Given the description of an element on the screen output the (x, y) to click on. 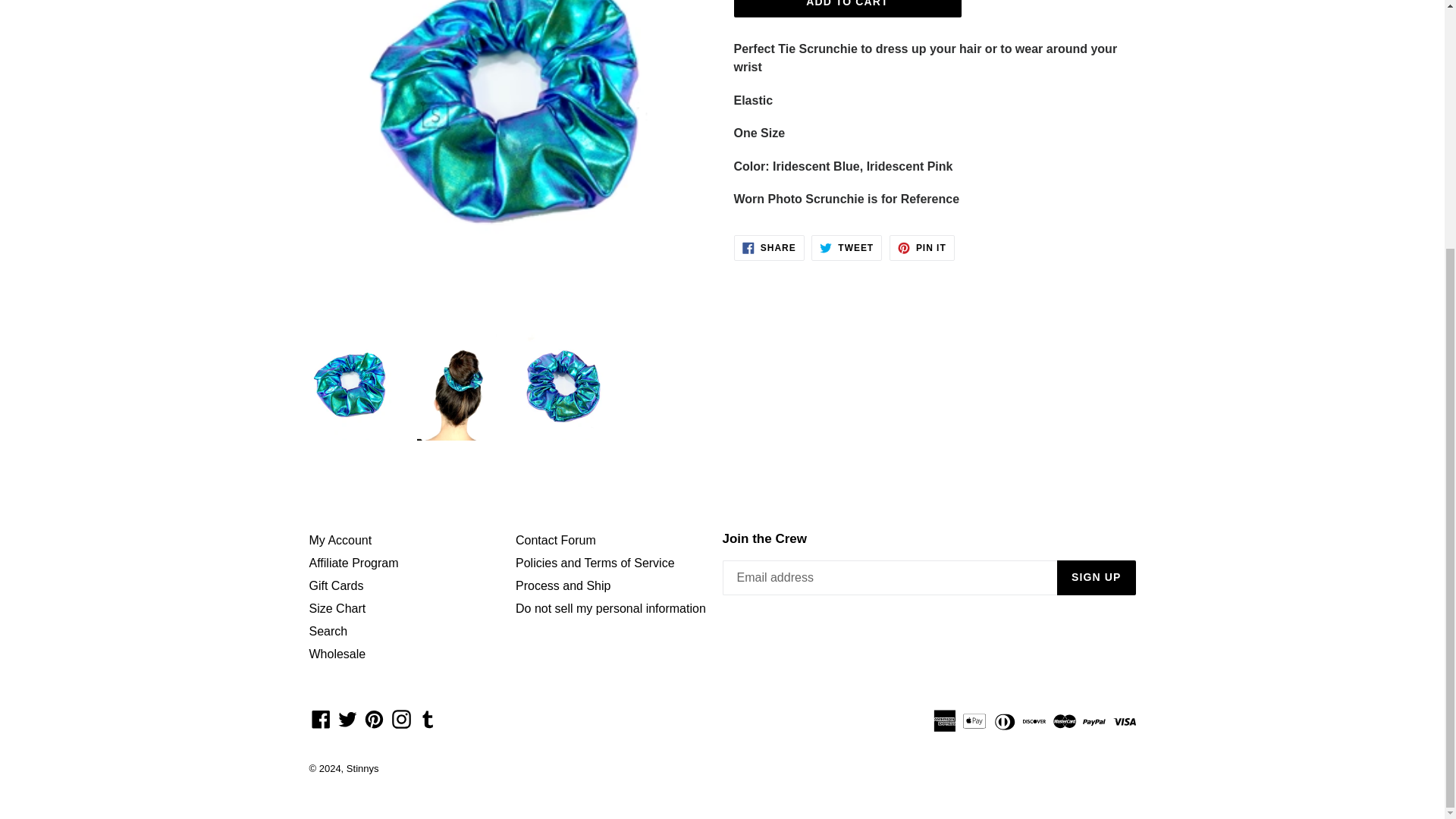
Share on Facebook (769, 248)
Stinnys on Twitter (347, 719)
Stinnys on Instagram (401, 719)
Tweet on Twitter (846, 248)
Stinnys on Facebook (320, 719)
Stinnys on Pinterest (373, 719)
Pin on Pinterest (922, 248)
Stinnys on Tumblr (427, 719)
